Given the description of an element on the screen output the (x, y) to click on. 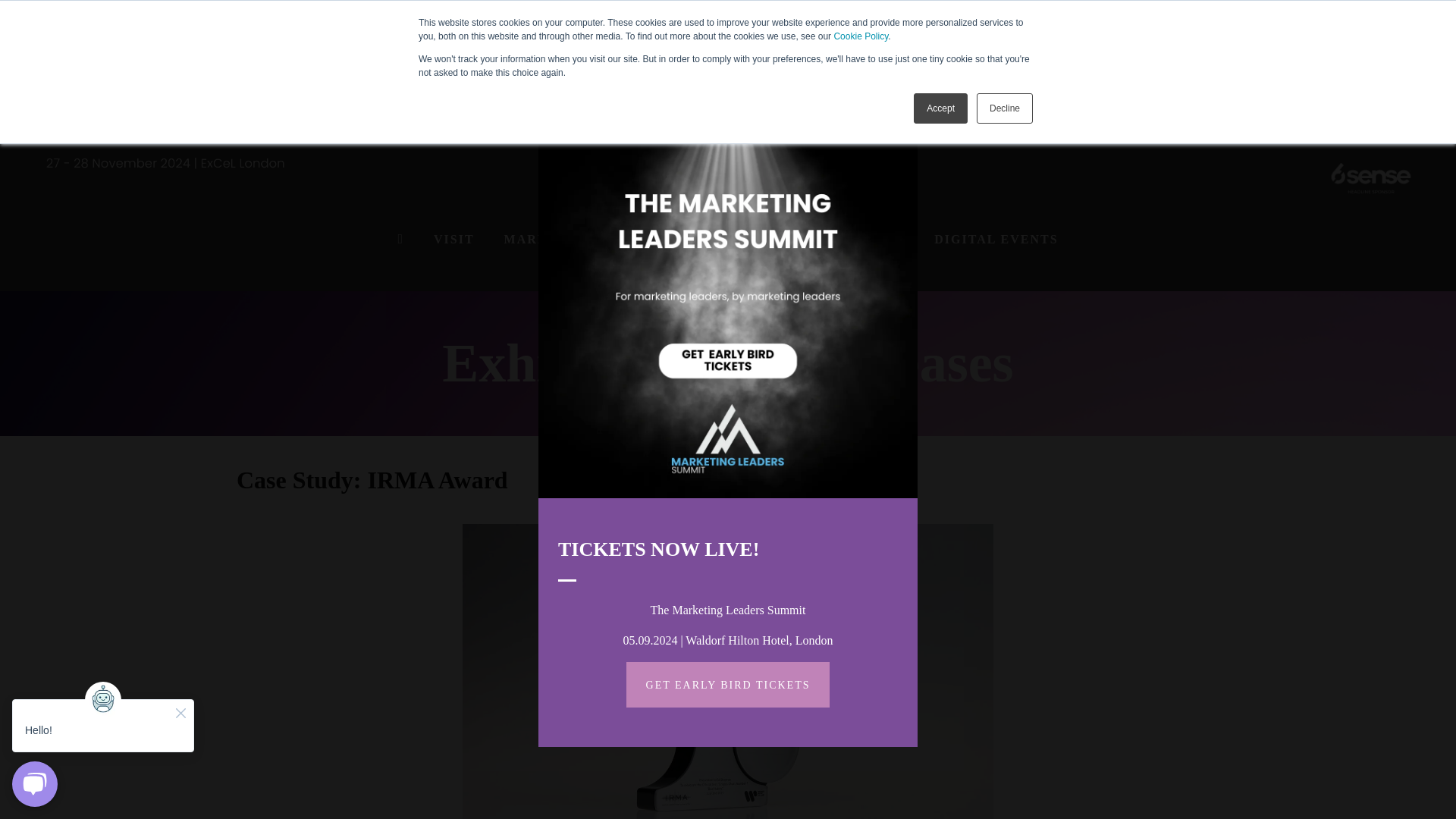
Accept (941, 108)
Decline (1004, 108)
Cookie Policy (860, 36)
